Given the description of an element on the screen output the (x, y) to click on. 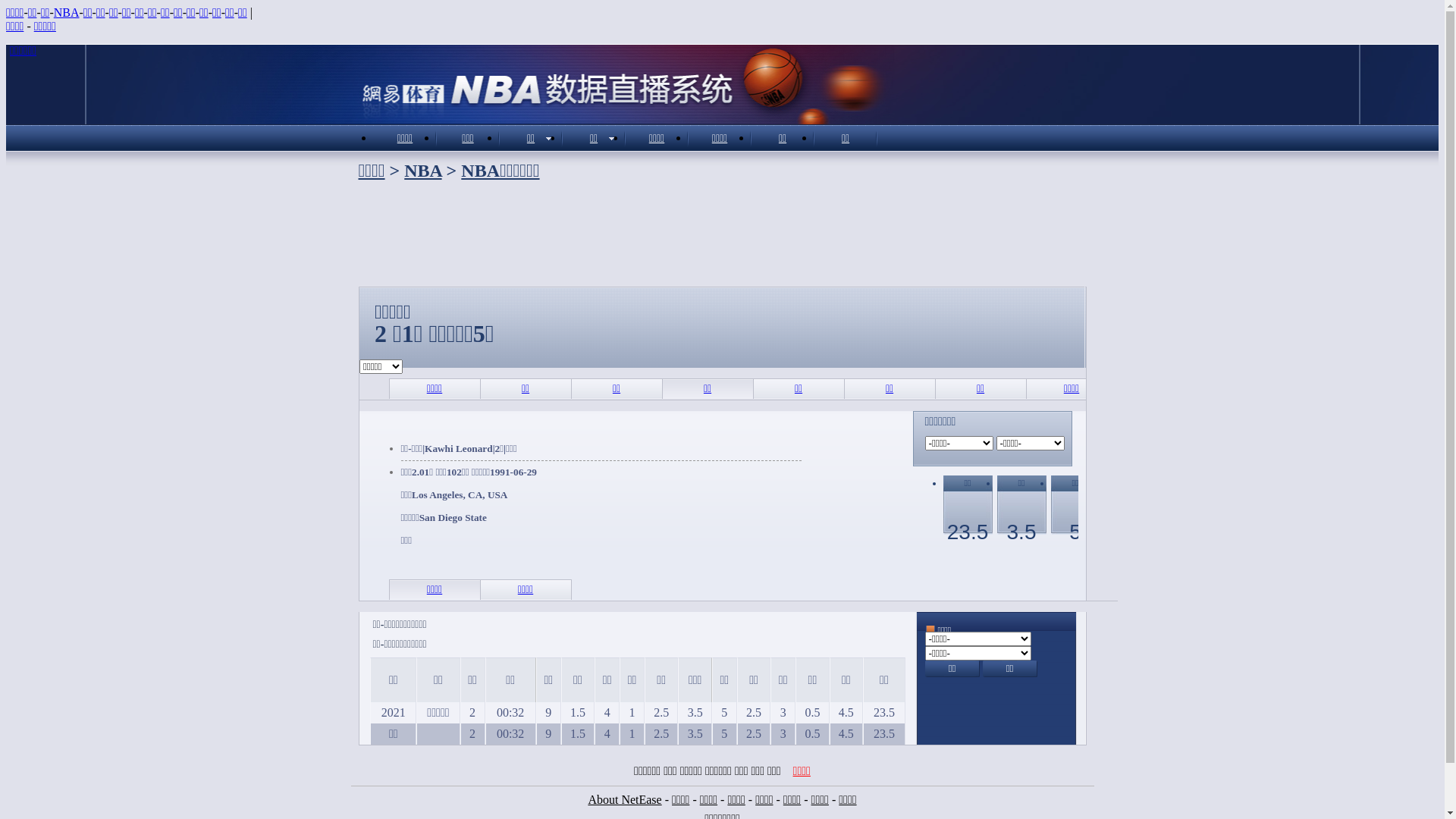
About NetEase Element type: text (624, 799)
NBA Element type: text (66, 12)
NBA Element type: text (422, 170)
